Given the description of an element on the screen output the (x, y) to click on. 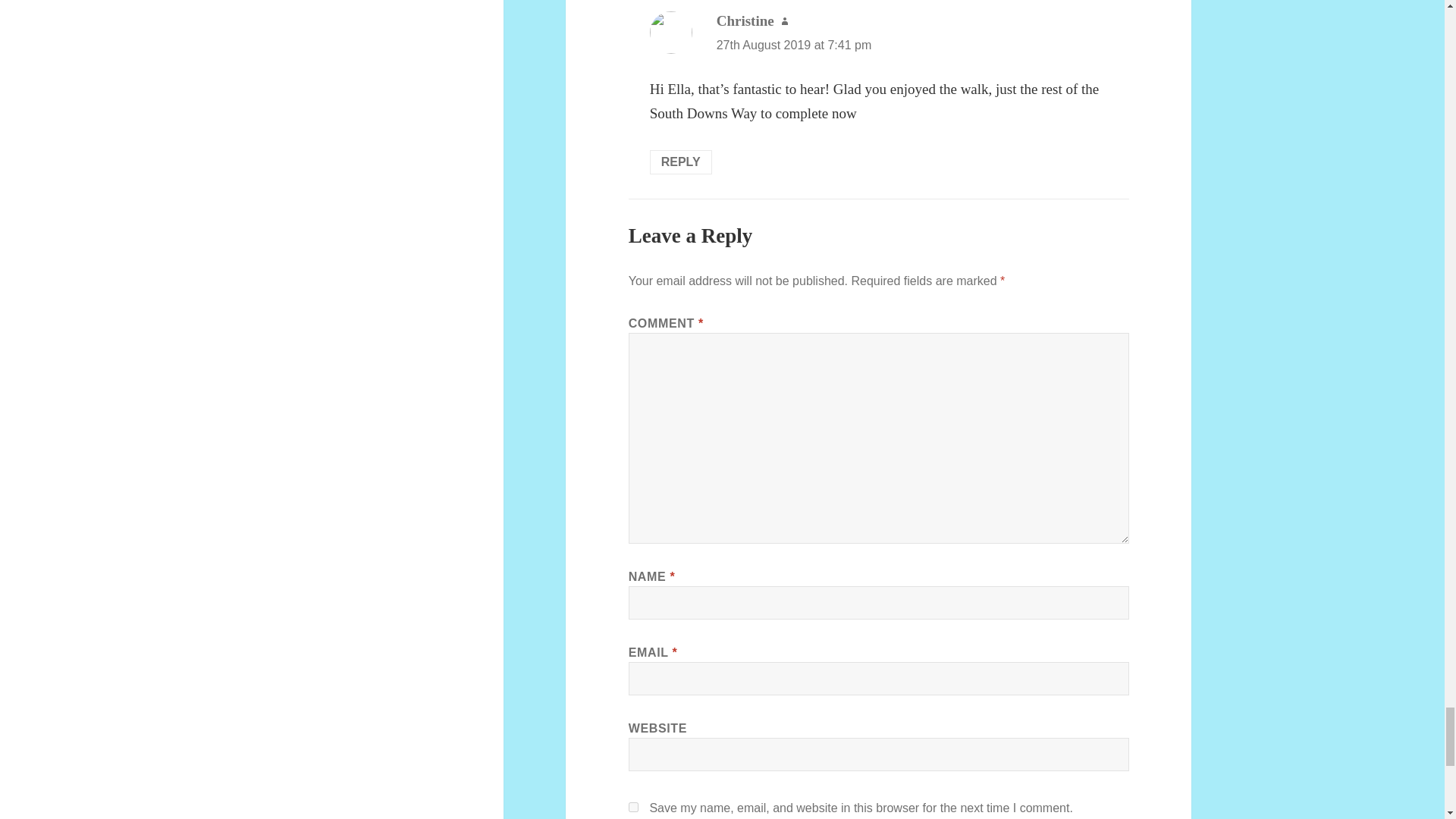
yes (633, 807)
